Given the description of an element on the screen output the (x, y) to click on. 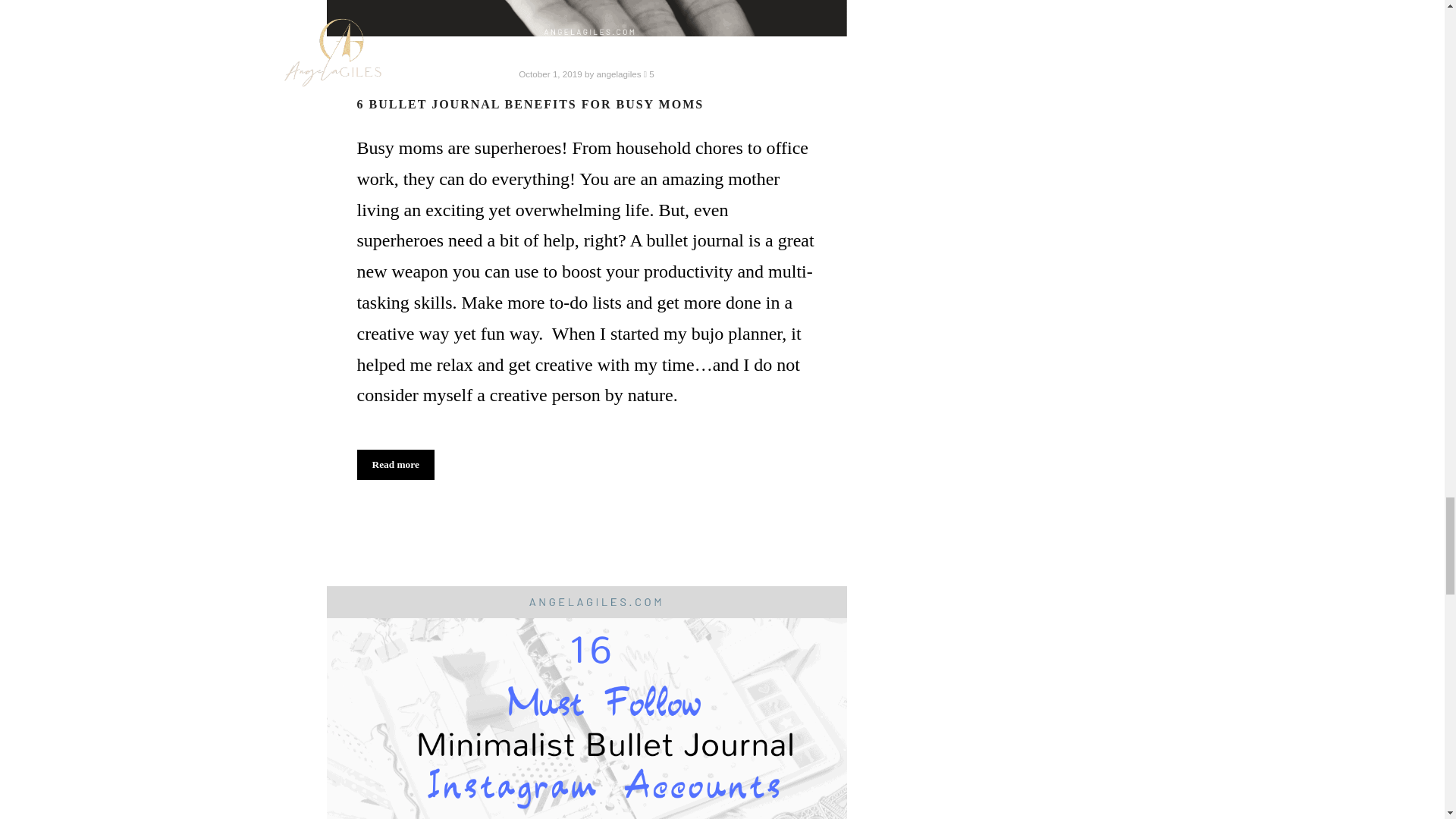
View all posts by angelagiles (619, 73)
